Given the description of an element on the screen output the (x, y) to click on. 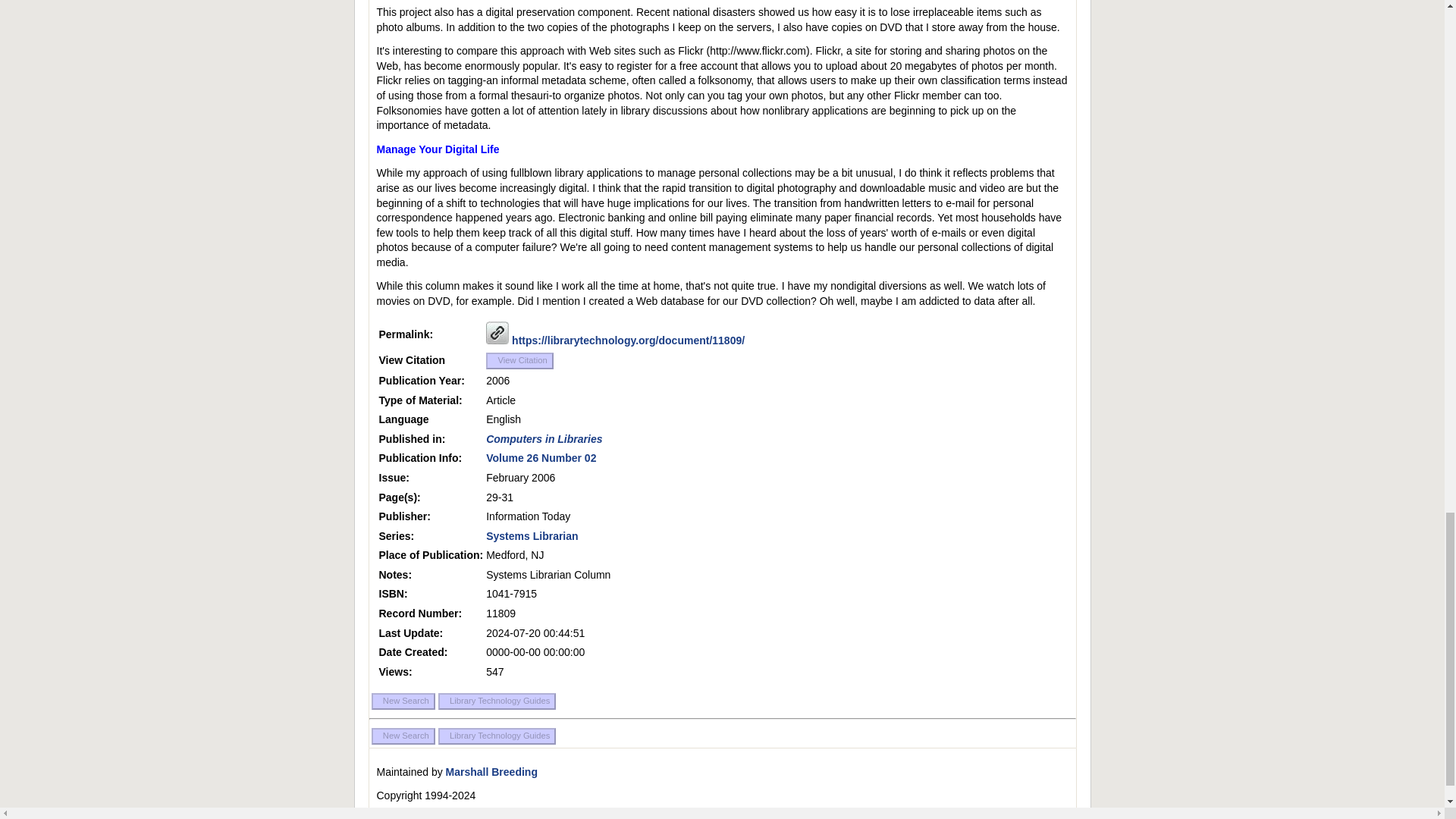
Persistent URL for this listing (497, 332)
Execute a Source search for Computers in Libraries (544, 439)
Library Technology Guides (497, 701)
Execute a Series search for Systems Librarian (532, 535)
View Citation (519, 360)
Library Technology Guides (497, 736)
New Search (403, 736)
New Search (403, 701)
